Given the description of an element on the screen output the (x, y) to click on. 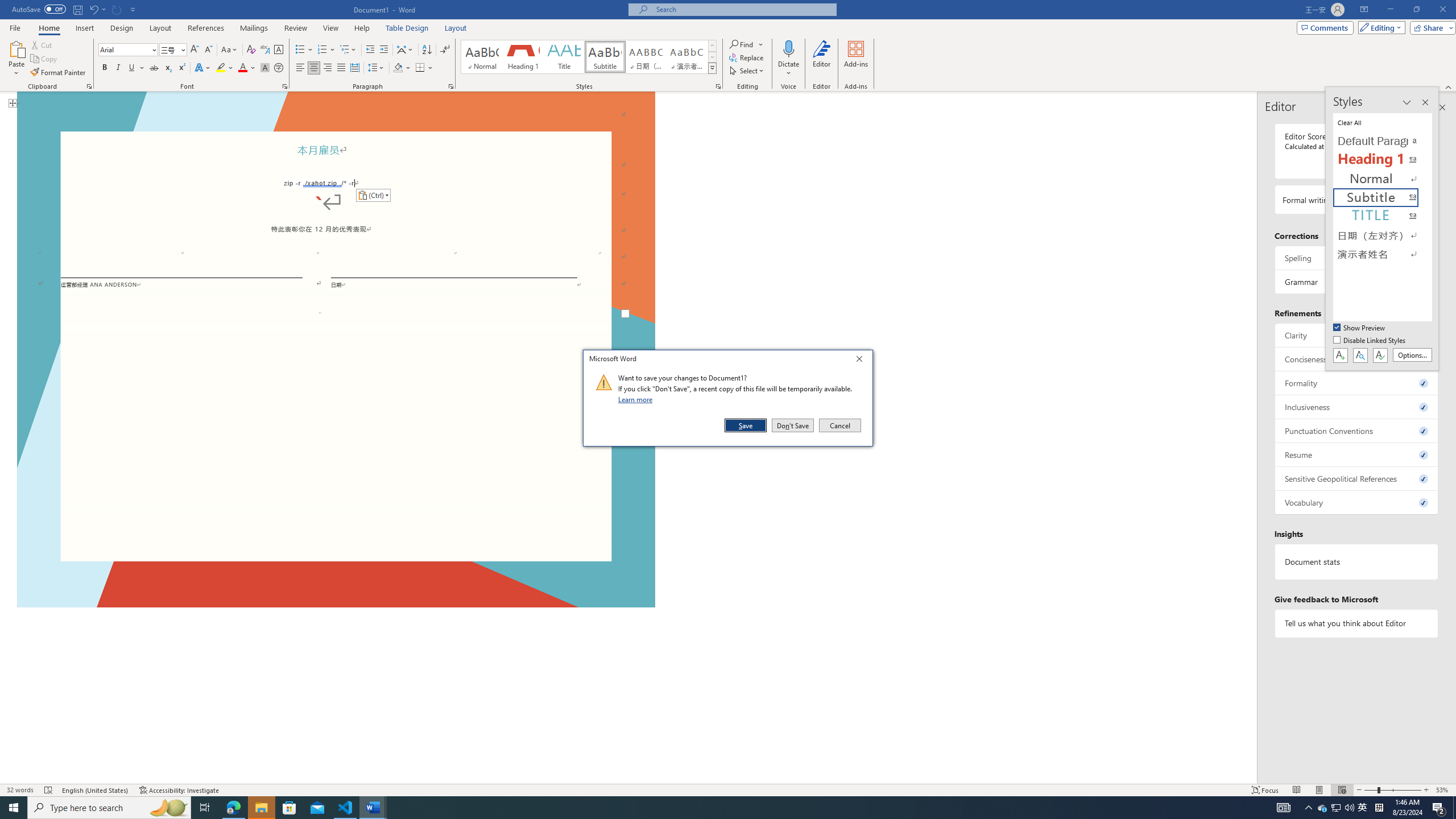
Don't Save (792, 425)
Tell us what you think about Editor (1356, 623)
Spelling, 0 issues. Press space or enter to review items. (1356, 257)
